Given the description of an element on the screen output the (x, y) to click on. 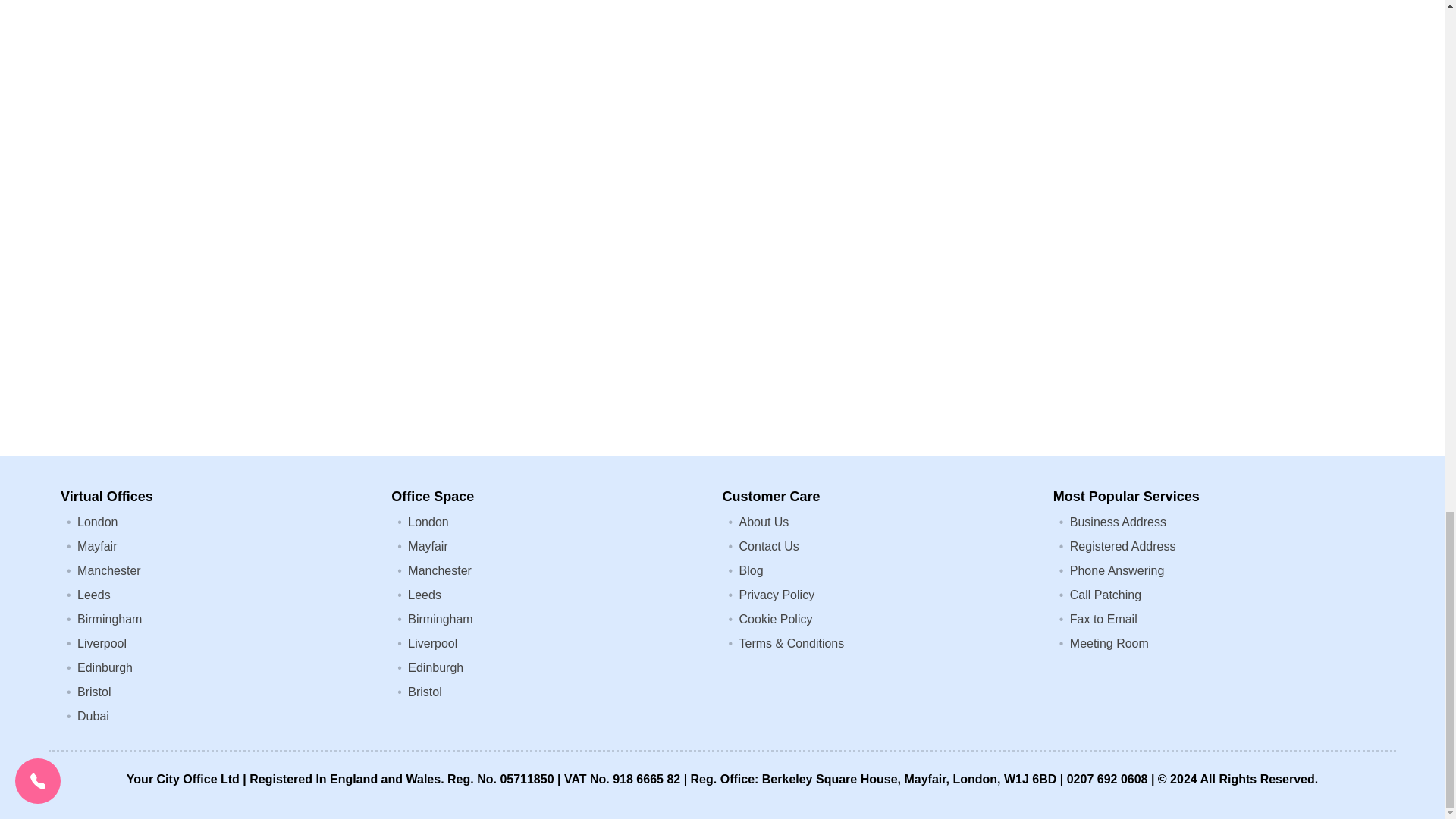
Edinburgh (435, 667)
Liverpool (101, 643)
Manchester (109, 570)
Leeds (424, 594)
Dubai (93, 716)
Manchester (439, 570)
London (427, 521)
Edinburgh (104, 667)
Birmingham (439, 618)
Birmingham (109, 618)
